Given the description of an element on the screen output the (x, y) to click on. 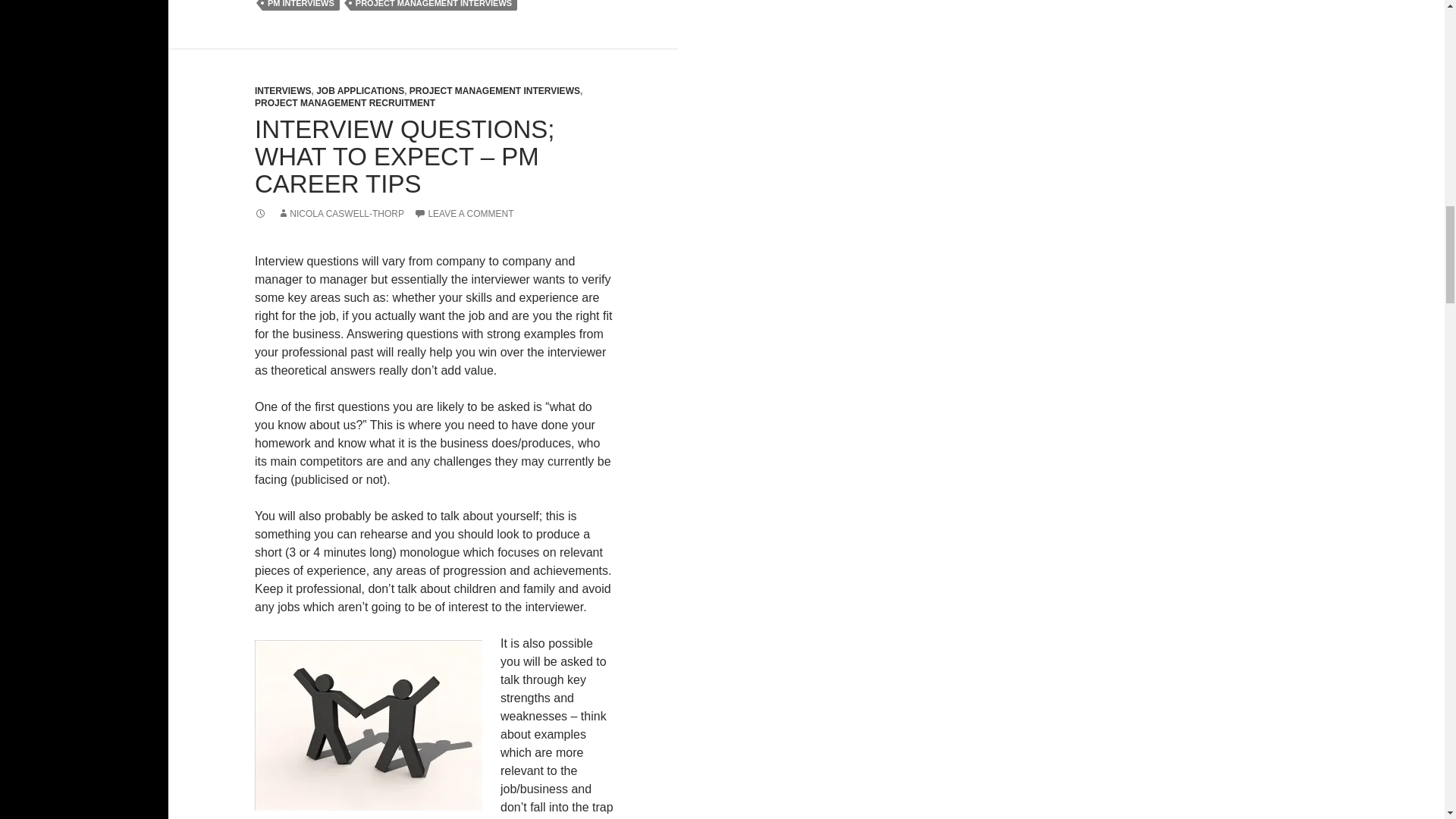
JOB APPLICATIONS (359, 90)
PM INTERVIEWS (300, 5)
NICOLA CASWELL-THORP (341, 213)
PROJECT MANAGEMENT RECRUITMENT (344, 102)
INTERVIEWS (282, 90)
PROJECT MANAGEMENT INTERVIEWS (433, 5)
PROJECT MANAGEMENT INTERVIEWS (494, 90)
